Given the description of an element on the screen output the (x, y) to click on. 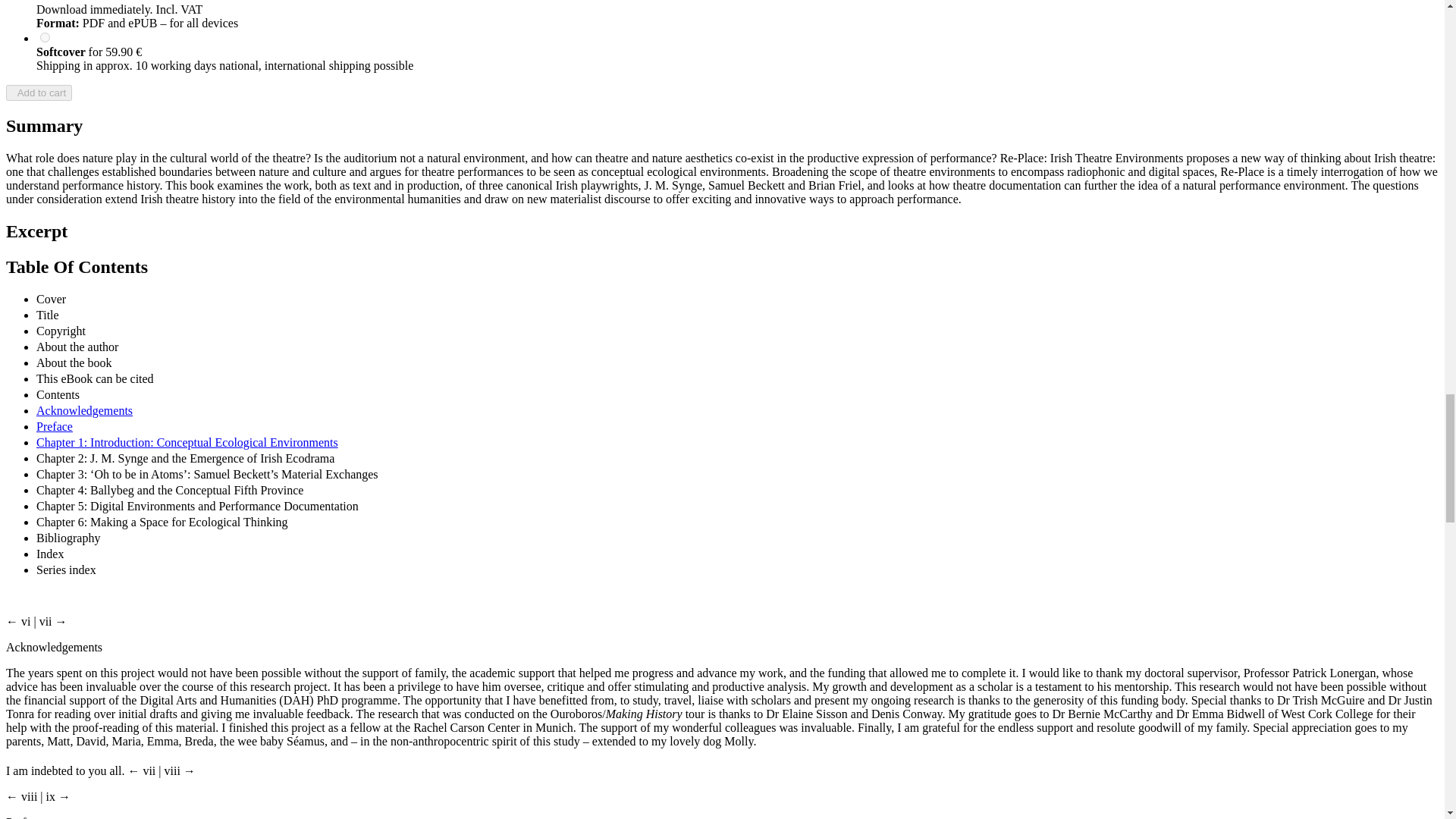
book:1113278 (44, 37)
